Given the description of an element on the screen output the (x, y) to click on. 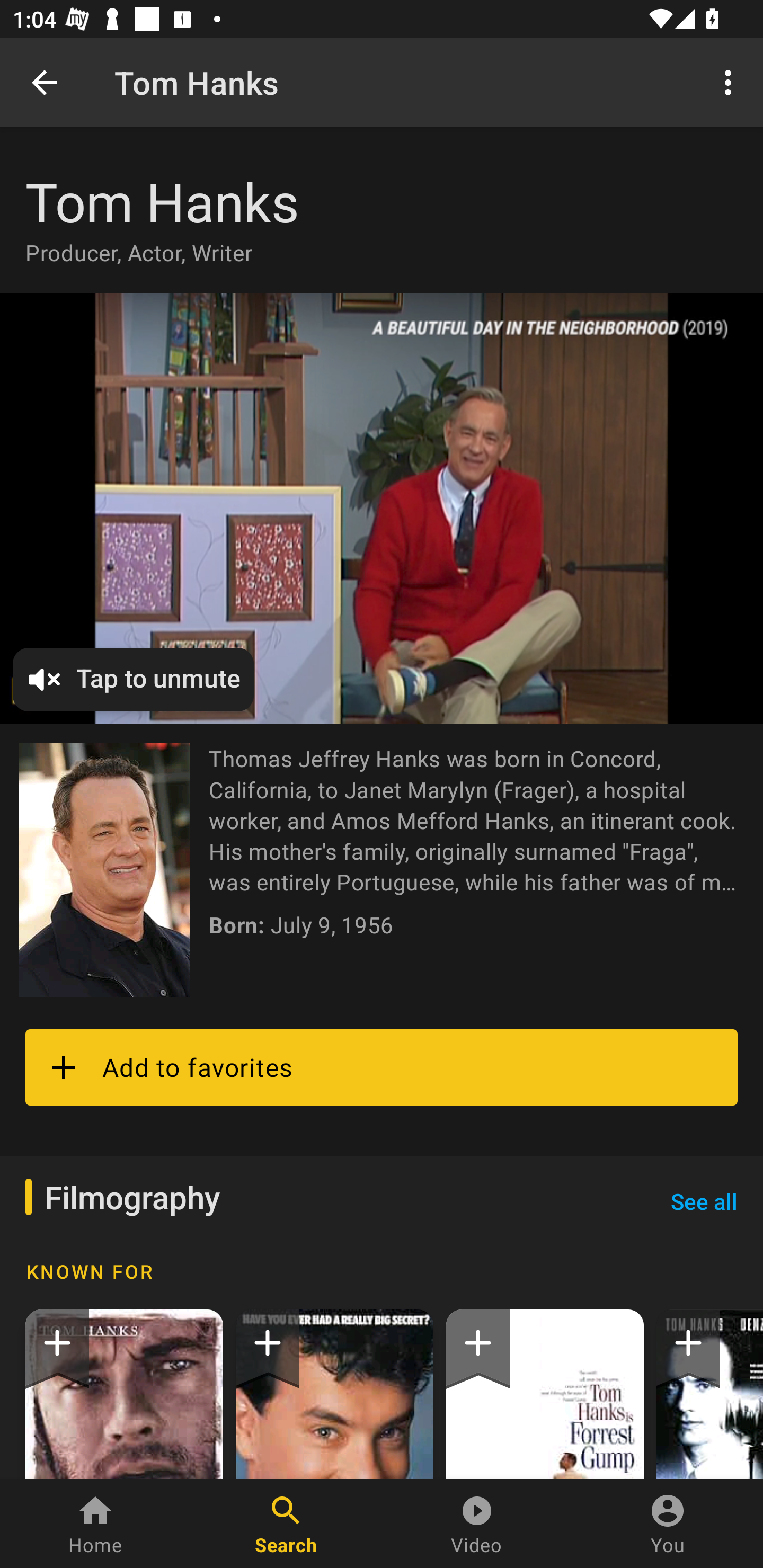
More options (731, 81)
Tap to unmute (381, 508)
Tap to unmute (133, 679)
Add to favorites (381, 1066)
See all See all  (703, 1201)
Home (95, 1523)
Video (476, 1523)
You (667, 1523)
